Given the description of an element on the screen output the (x, y) to click on. 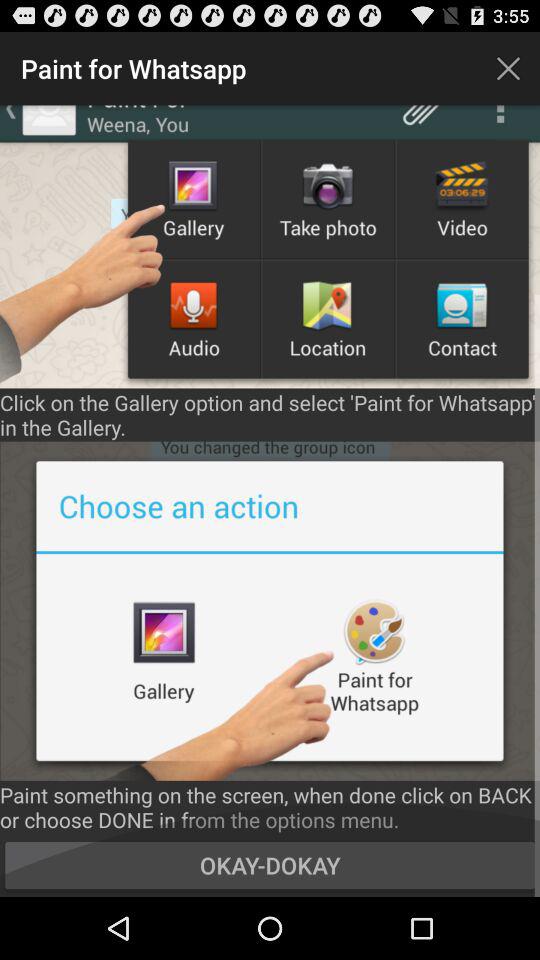
scroll to okay-dokay (270, 864)
